Given the description of an element on the screen output the (x, y) to click on. 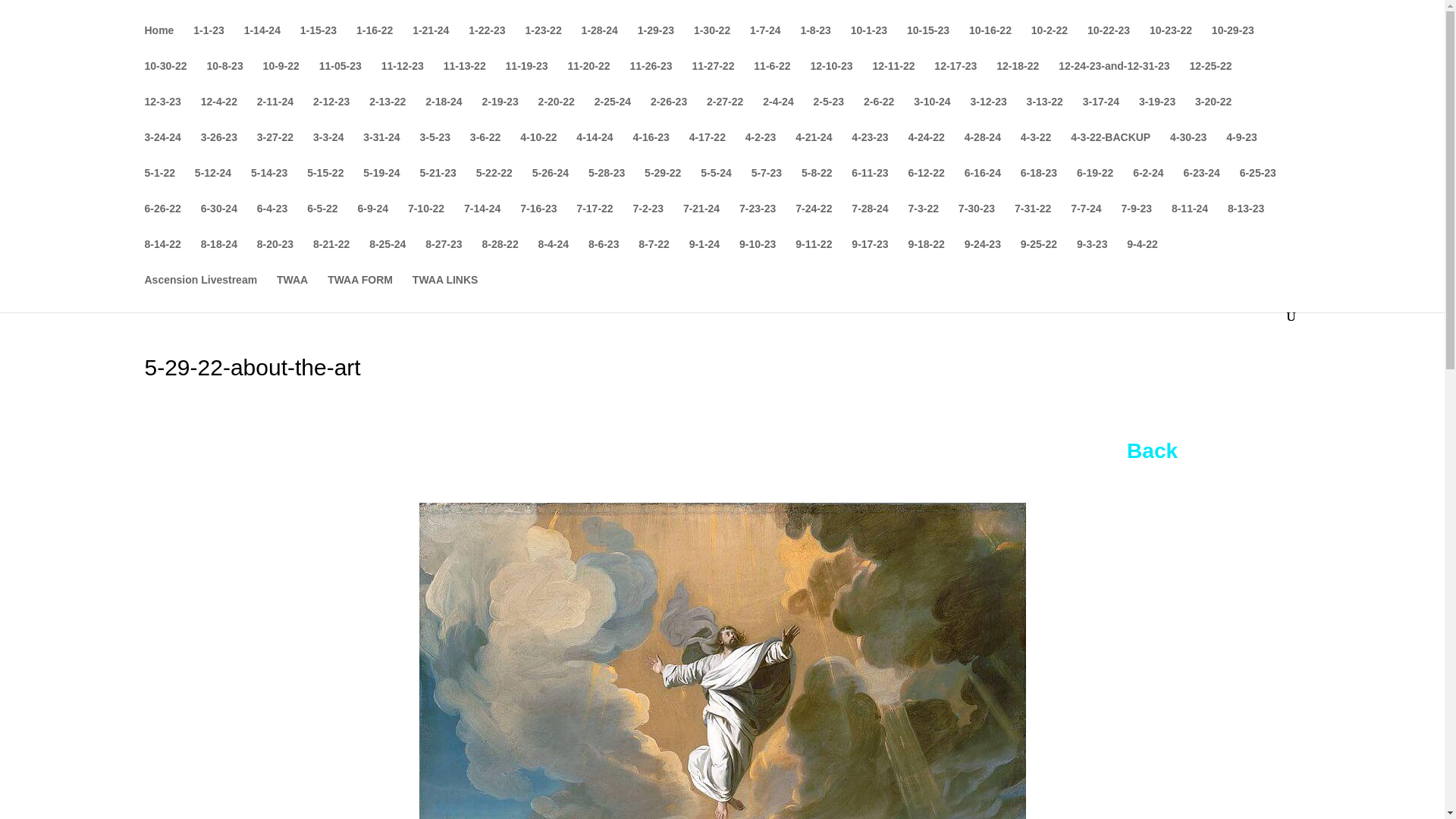
12-10-23 (830, 78)
10-16-22 (990, 42)
11-05-23 (339, 78)
12-24-23-and-12-31-23 (1113, 78)
11-13-22 (465, 78)
12-18-22 (1017, 78)
11-20-22 (588, 78)
1-29-23 (655, 42)
11-27-22 (712, 78)
1-21-24 (430, 42)
